Given the description of an element on the screen output the (x, y) to click on. 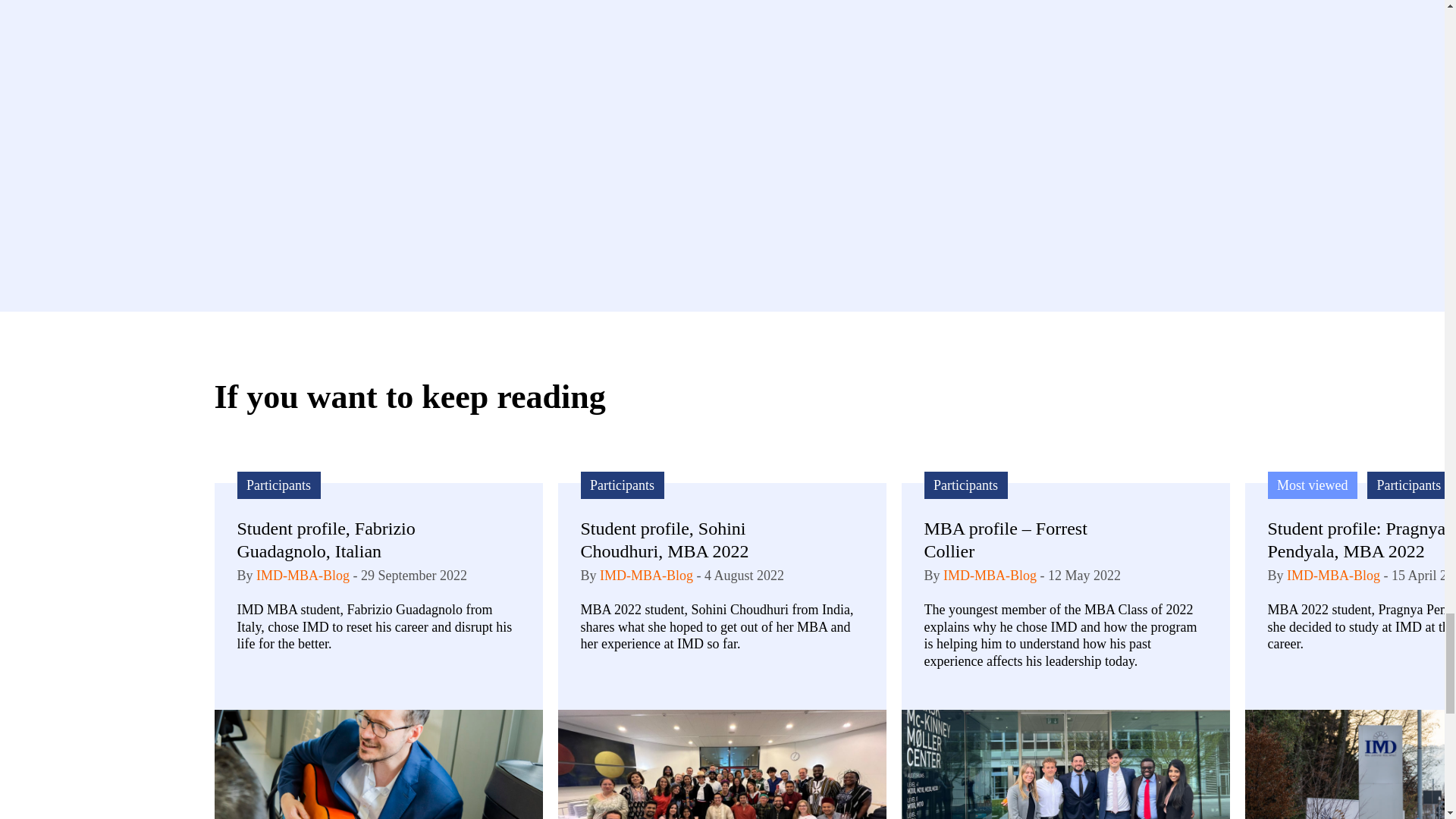
IMD-MBA-Blog (989, 575)
IMD-MBA-Blog (302, 575)
Most viewed (1313, 484)
IMD-MBA-Blog (1333, 575)
Student profile, Fabrizio Guadagnolo, Italian (334, 539)
Participants (965, 484)
Participants (621, 484)
IMD-MBA-Blog (646, 575)
Student profile, Sohini Choudhuri, MBA 2022 (679, 539)
